Given the description of an element on the screen output the (x, y) to click on. 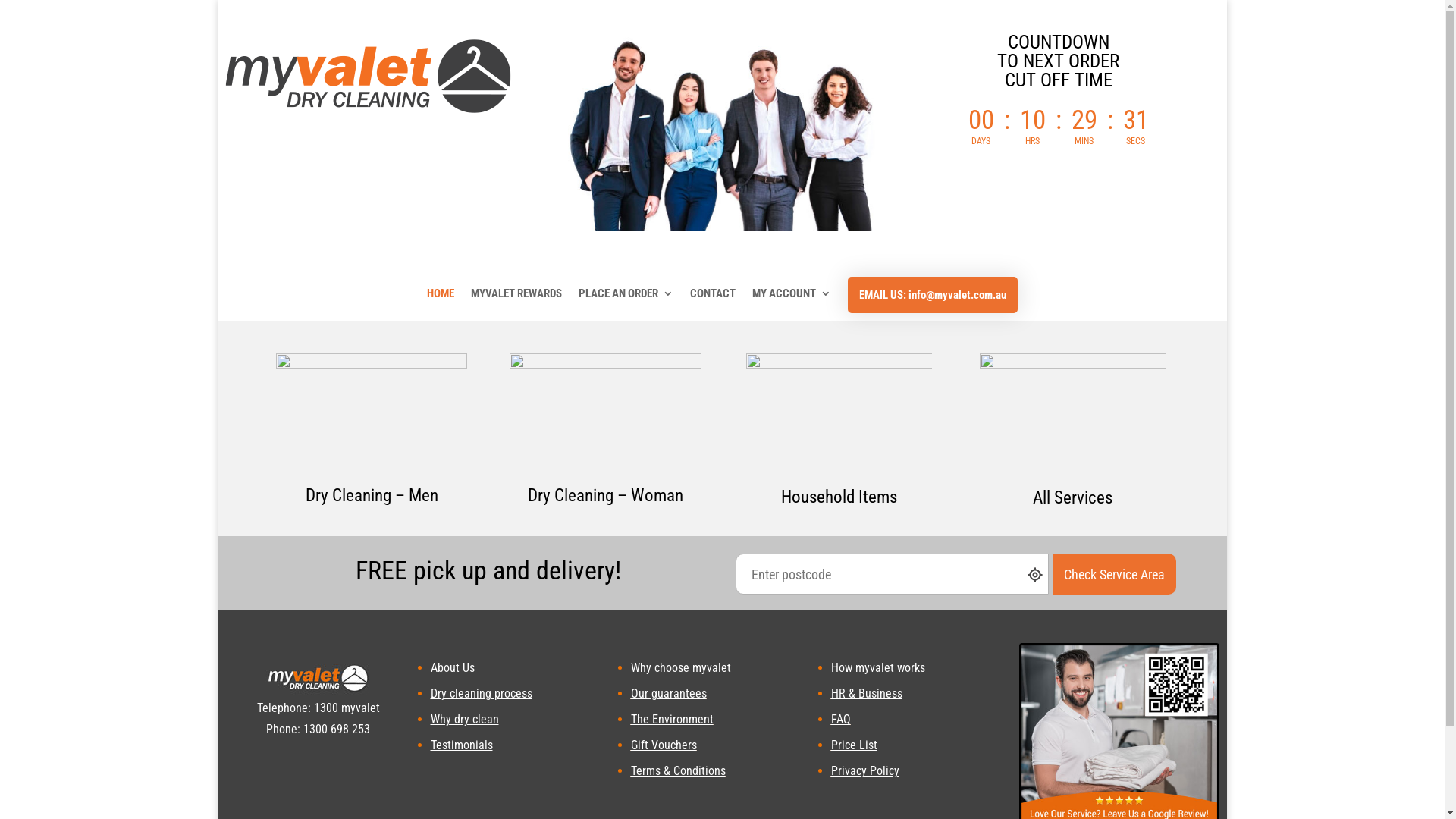
Why choose myvalet Element type: text (680, 667)
header-image3 Element type: hover (722, 131)
Why dry clean Element type: text (464, 719)
updated_logo Element type: hover (367, 76)
Testimonials Element type: text (461, 744)
MYVALET REWARDS Element type: text (515, 304)
The Environment Element type: text (671, 719)
Price List Element type: text (854, 744)
About Us Element type: text (452, 667)
EMAIL US: info@myvalet.com.au Element type: text (932, 294)
How myvalet works Element type: text (878, 667)
footer_logo2 Element type: hover (318, 677)
FAQ Element type: text (840, 719)
CONTACT Element type: text (712, 304)
Our guarantees Element type: text (668, 693)
Dry cleaning process Element type: text (481, 693)
Gift Vouchers Element type: text (663, 744)
HR & Business Element type: text (866, 693)
Privacy Policy Element type: text (865, 770)
PLACE AN ORDER Element type: text (625, 304)
HOME Element type: text (440, 304)
Check Service Area Element type: text (1114, 573)
Terms & Conditions Element type: text (677, 770)
MY ACCOUNT Element type: text (791, 304)
